Given the description of an element on the screen output the (x, y) to click on. 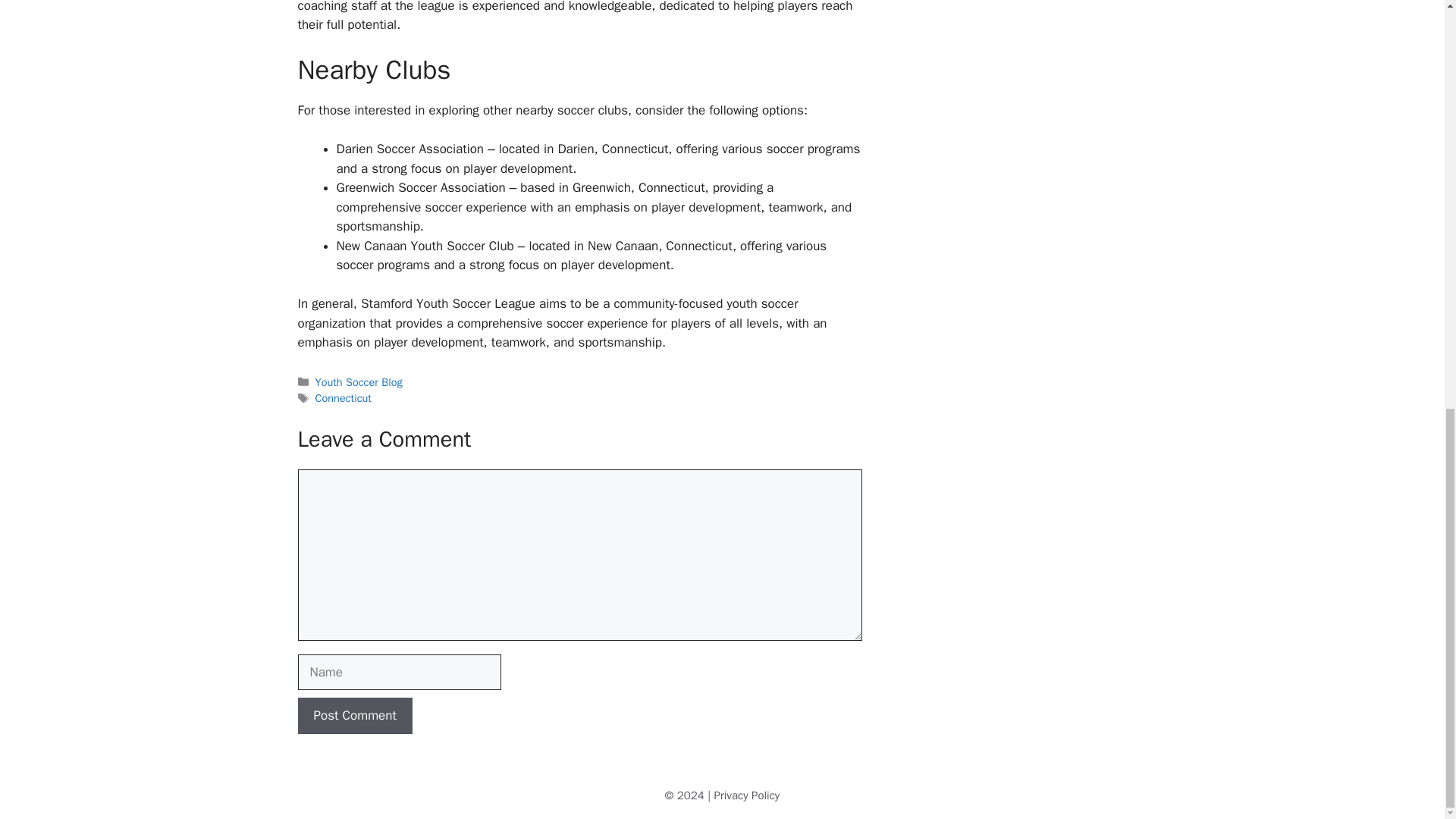
Youth Soccer Blog (359, 382)
Post Comment (354, 715)
Connecticut (343, 397)
Privacy Policy (747, 795)
Post Comment (354, 715)
